Given the description of an element on the screen output the (x, y) to click on. 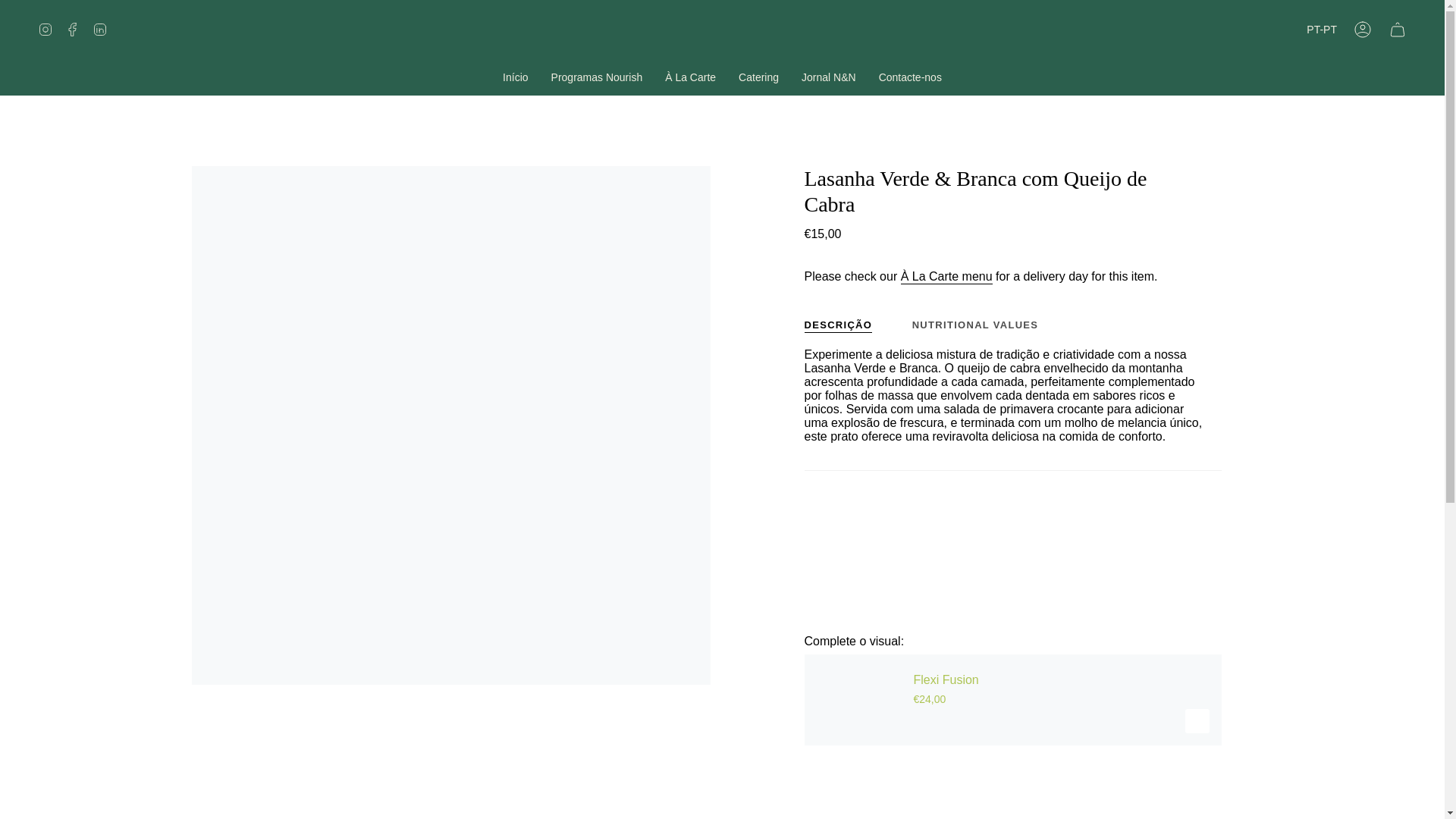
Carrinho (1397, 29)
Linkedin (99, 29)
Contacte-nos (910, 77)
Facebook (72, 29)
PT-PT (1321, 29)
Conta (1362, 29)
Instagram (45, 29)
Catering (758, 77)
Minha conta (1362, 29)
Programas Nourish (596, 77)
Carrinho (1397, 29)
